Given the description of an element on the screen output the (x, y) to click on. 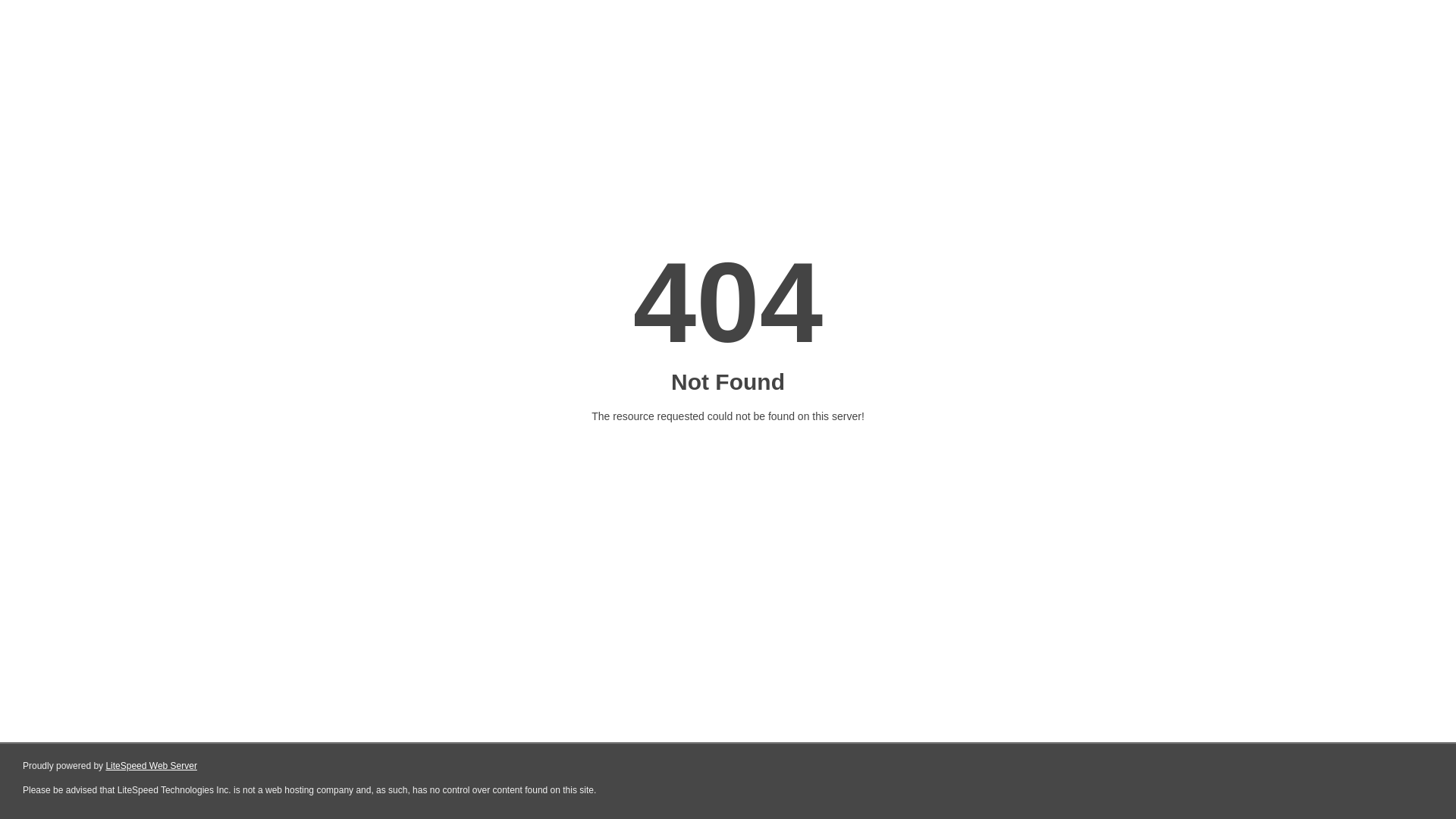
LiteSpeed Web Server Element type: text (151, 765)
